Given the description of an element on the screen output the (x, y) to click on. 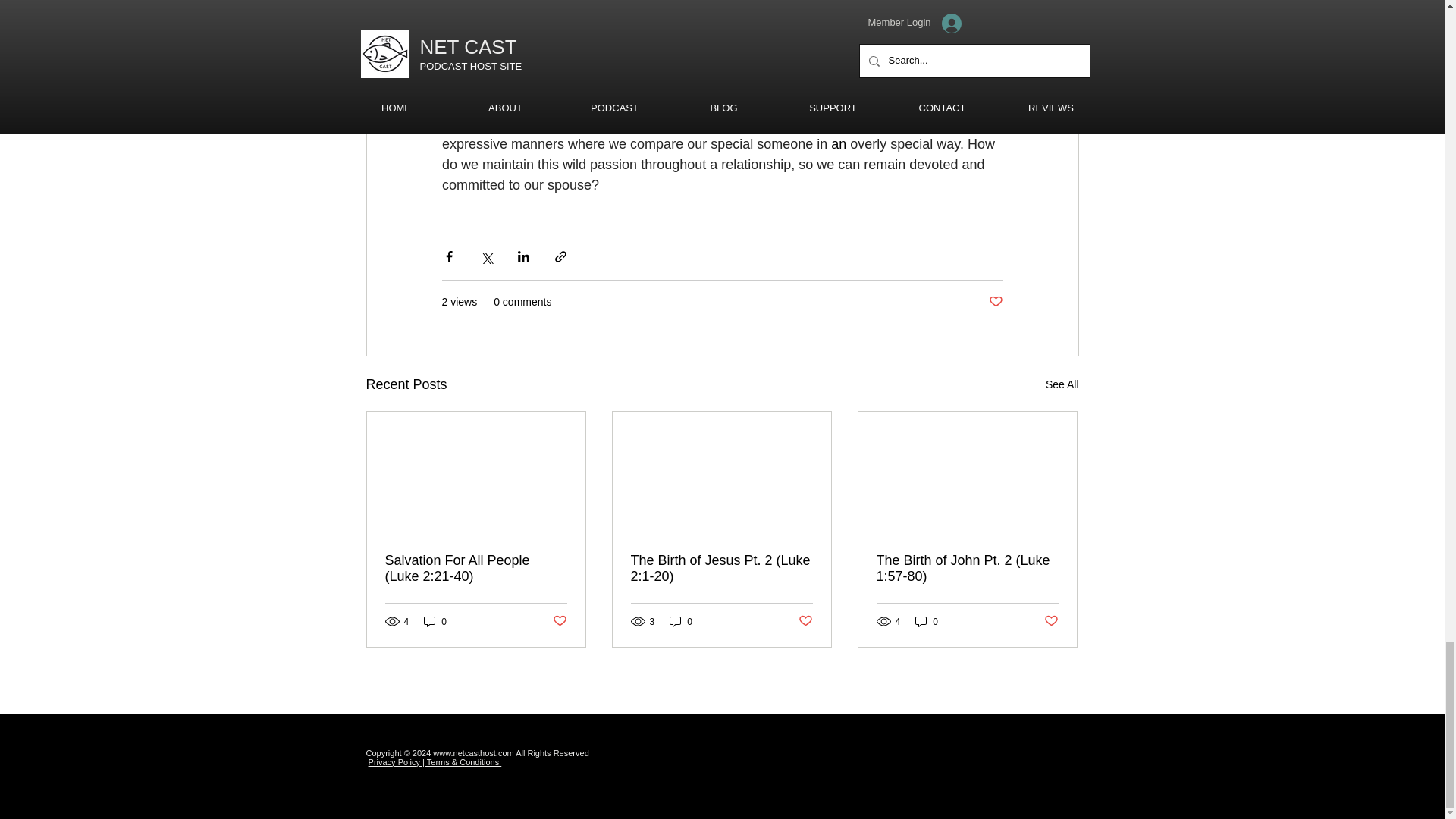
0 (926, 621)
Post not marked as liked (995, 302)
Post not marked as liked (804, 621)
0 (681, 621)
Post not marked as liked (558, 621)
www.netcasthost.com (472, 752)
0 (435, 621)
See All (1061, 384)
Post not marked as liked (1050, 621)
